Given the description of an element on the screen output the (x, y) to click on. 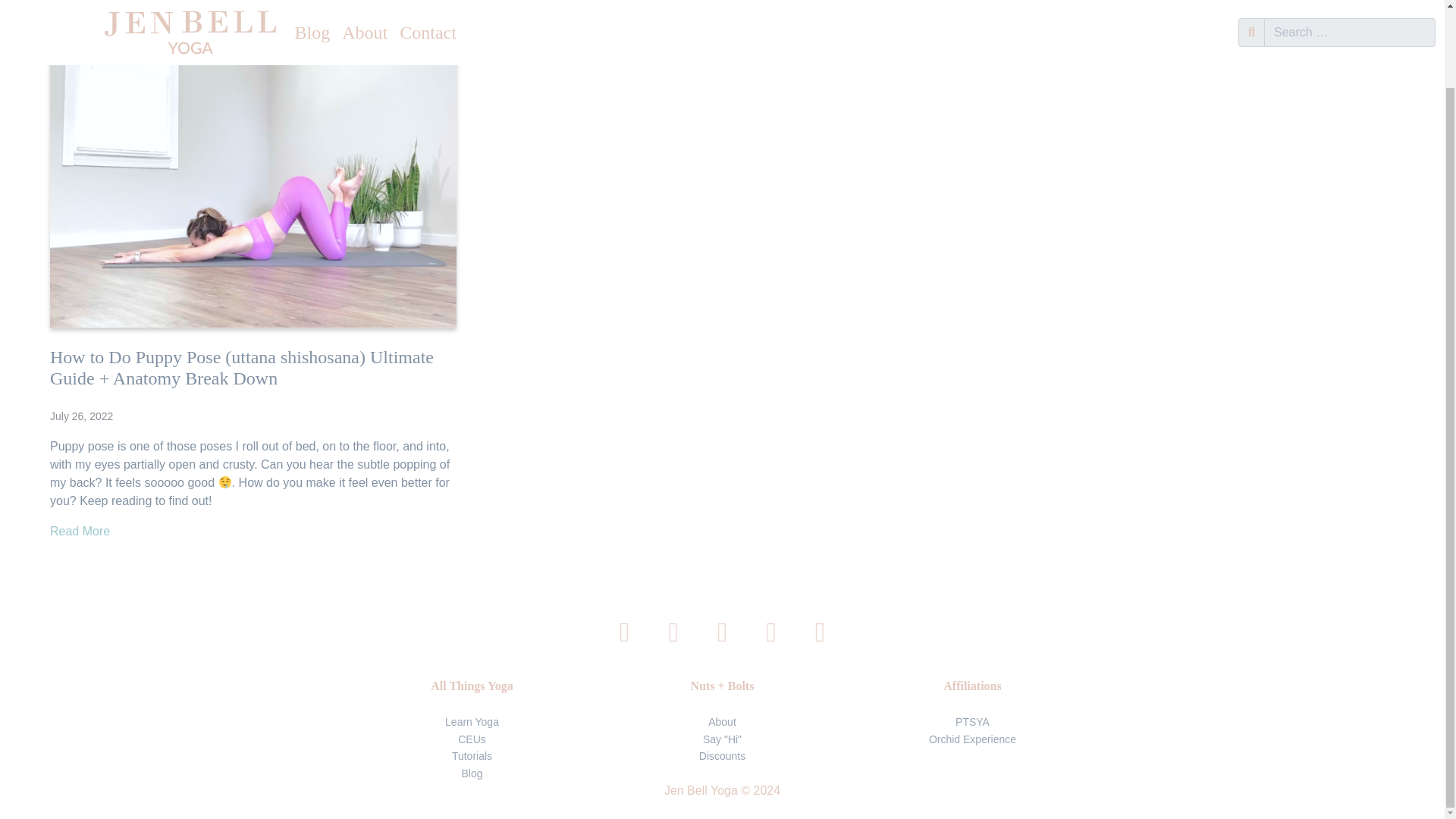
CEUs (472, 739)
Say "Hi" (722, 739)
Read More (79, 530)
Blog (471, 772)
Learn Yoga (472, 721)
Tutorials (471, 756)
About (721, 721)
PTSYA (972, 721)
Orchid Experience (972, 739)
Discounts (721, 756)
